Given the description of an element on the screen output the (x, y) to click on. 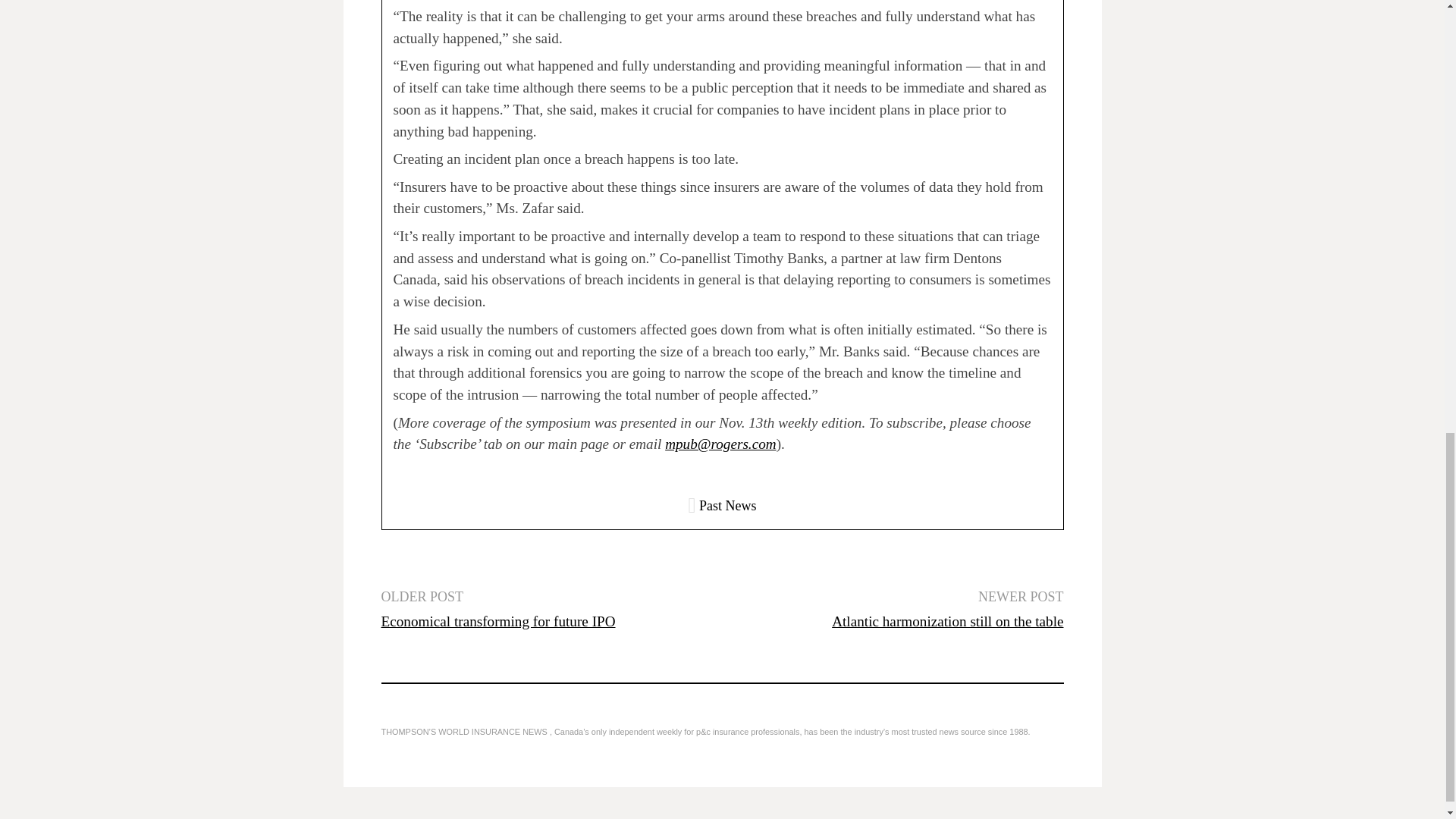
Atlantic harmonization still on the table (946, 621)
Past News (727, 505)
Economical transforming for future IPO (497, 621)
